Given the description of an element on the screen output the (x, y) to click on. 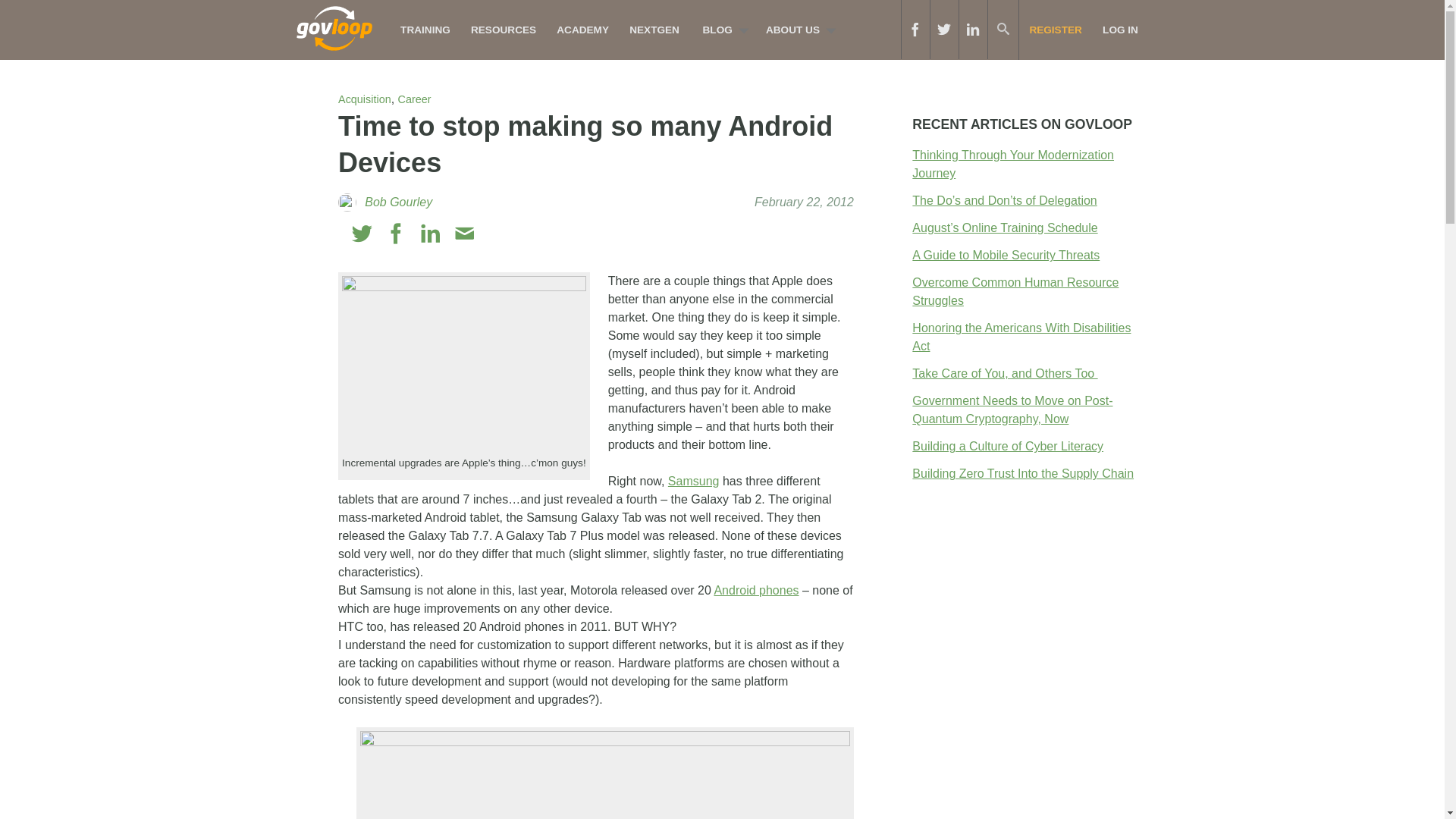
Samsung (693, 481)
RESOURCES (503, 29)
Print (497, 233)
TRAINING (425, 29)
htc phones (604, 775)
NEXTGEN (655, 29)
Twitter (362, 233)
Facebook (395, 233)
SGT2 (464, 356)
Acquisition (364, 99)
